Given the description of an element on the screen output the (x, y) to click on. 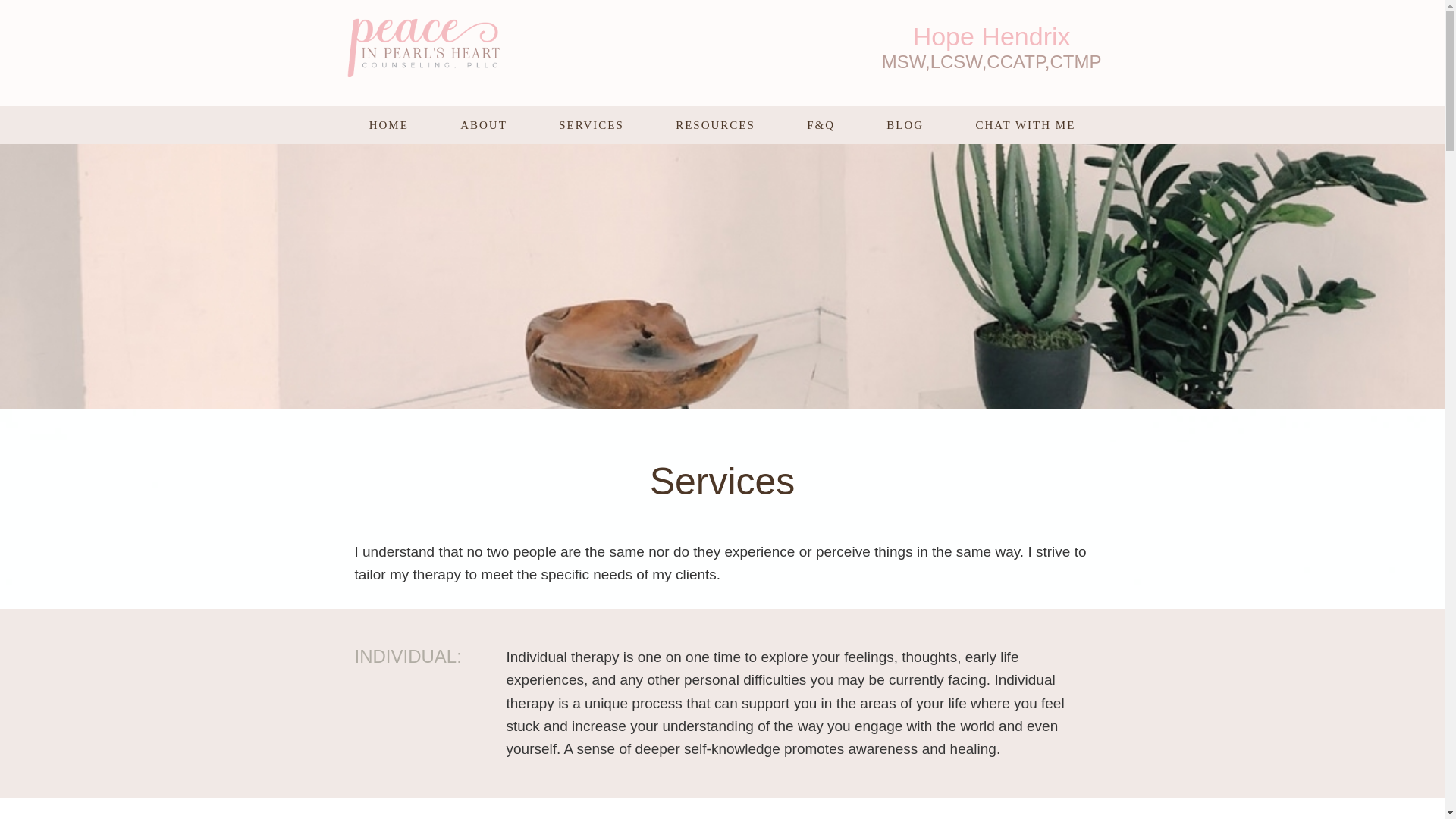
SERVICES (590, 125)
CHAT WITH ME (1024, 125)
RESOURCES (714, 125)
ABOUT (482, 125)
HOME (389, 125)
BLOG (904, 125)
